Given the description of an element on the screen output the (x, y) to click on. 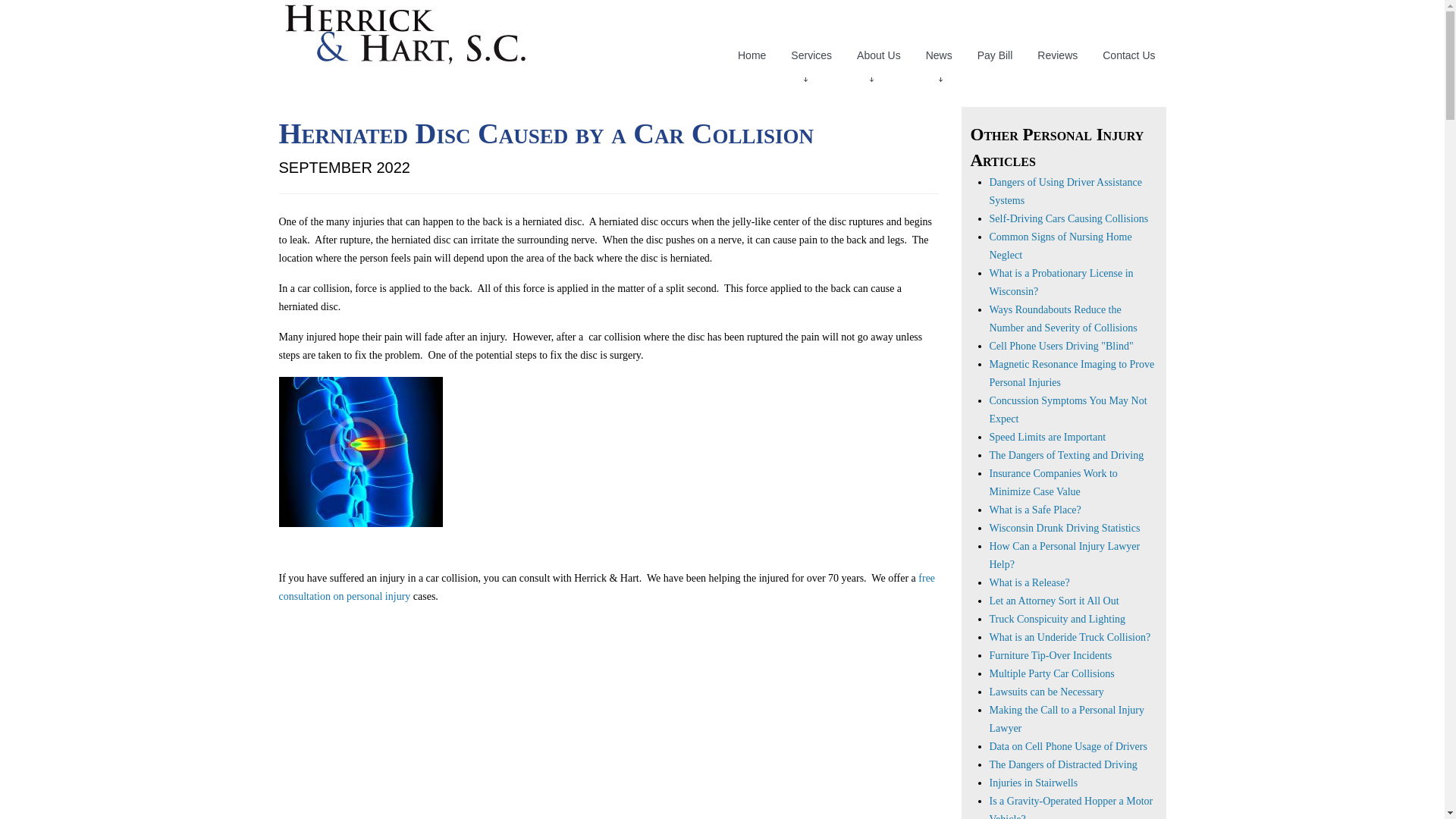
Wisconsin Drunk Driving Statistics (1064, 527)
Common Signs of Nursing Home Neglect (1059, 245)
Cell Phone Users Driving "Blind" (1060, 346)
Insurance Companies Work to Minimize Case Value (1052, 482)
Let an Attorney Sort it All Out (1053, 600)
Concussion Symptoms You May Not Expect (1067, 409)
News (938, 55)
What is an Underide Truck Collision? (1069, 636)
Reviews (1056, 55)
Truck Conspicuity and Lighting (1056, 618)
Pay Bill (994, 55)
Contact Us (1129, 55)
Making the Call to a Personal Injury Lawyer (1066, 718)
The Dangers of Texting and Driving (1065, 455)
What is a Release? (1028, 582)
